Given the description of an element on the screen output the (x, y) to click on. 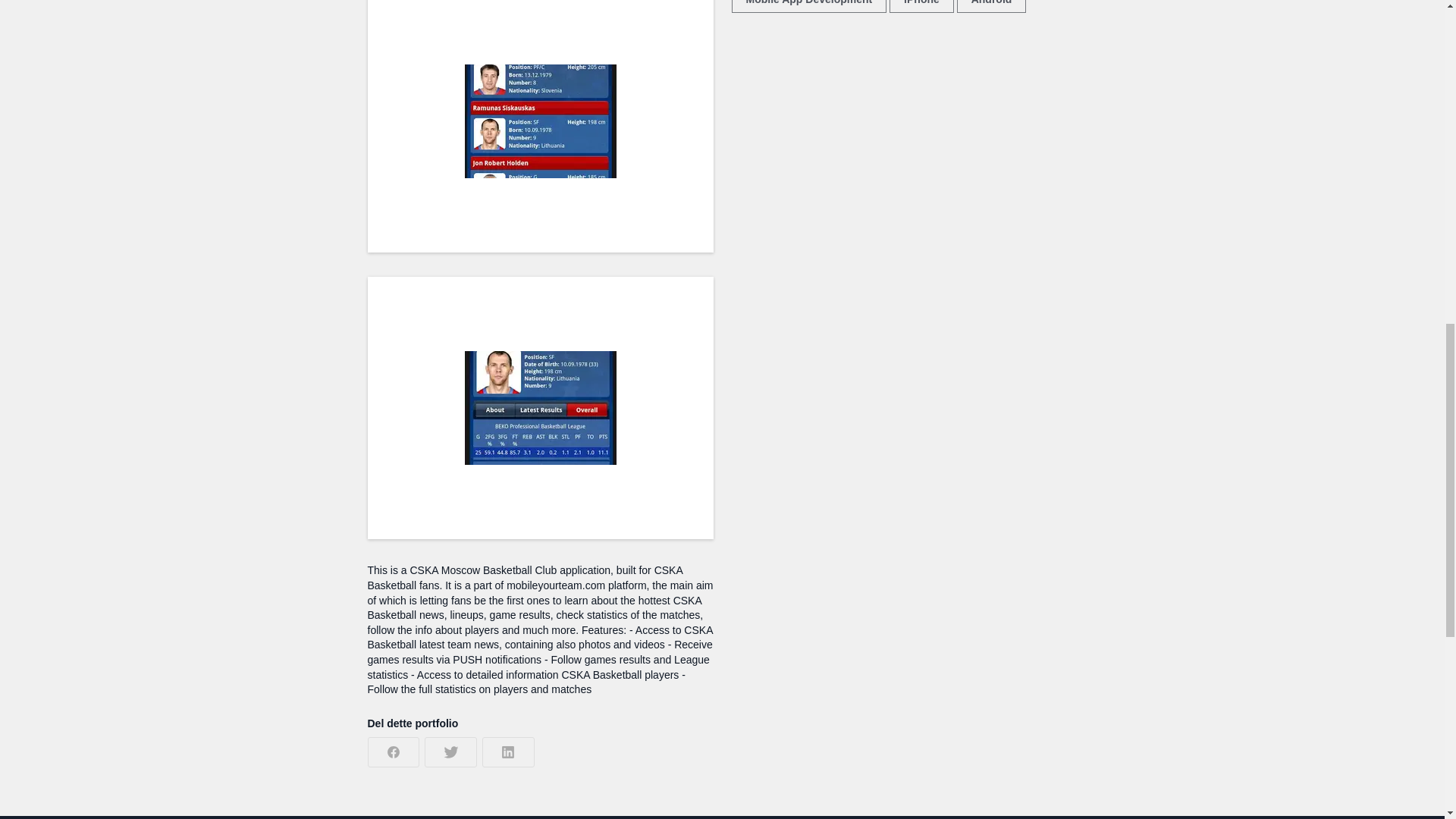
Android (991, 6)
Mobile App Development (808, 6)
iPhone (921, 6)
